Given the description of an element on the screen output the (x, y) to click on. 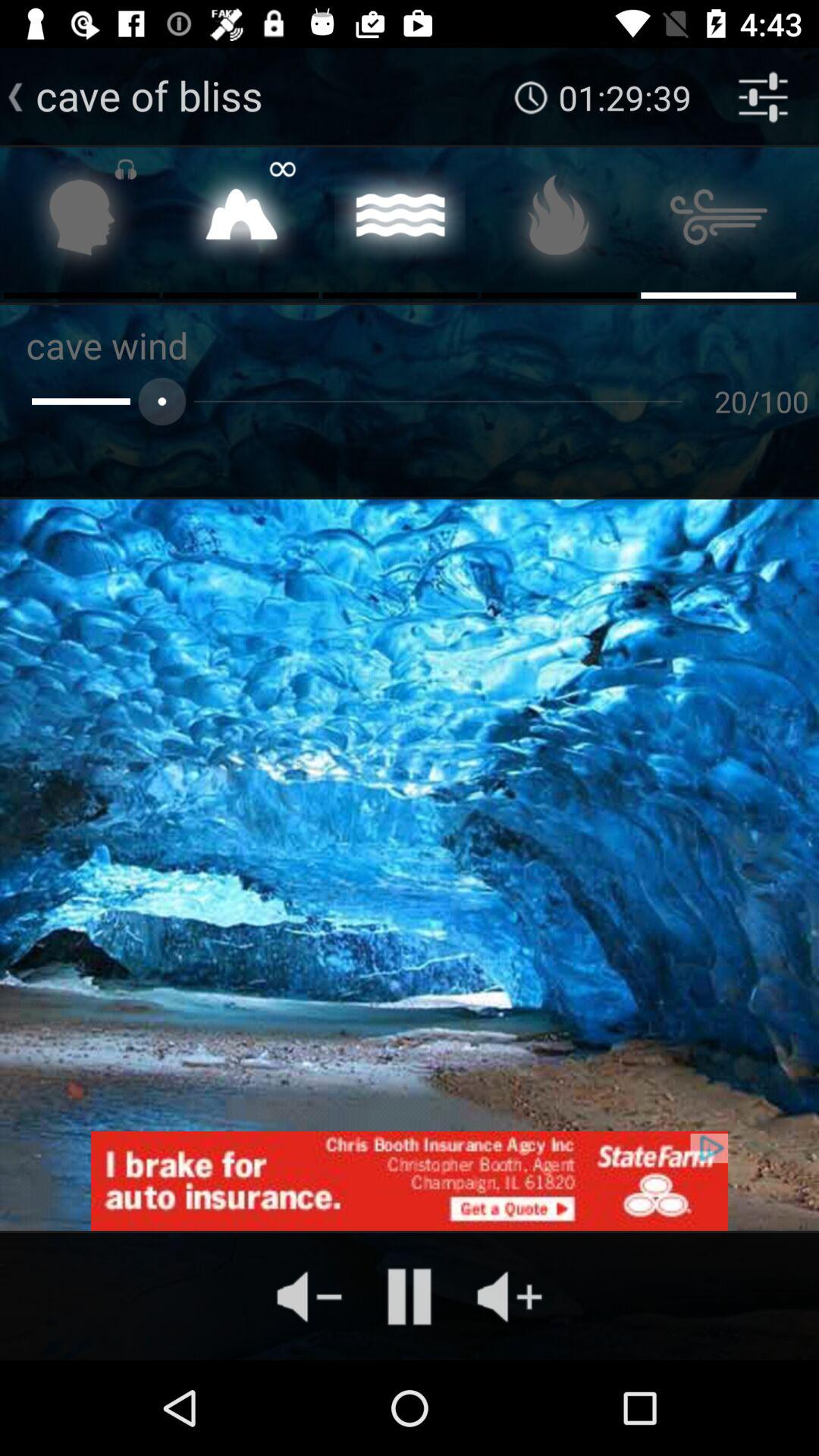
advantisment (409, 1180)
